Given the description of an element on the screen output the (x, y) to click on. 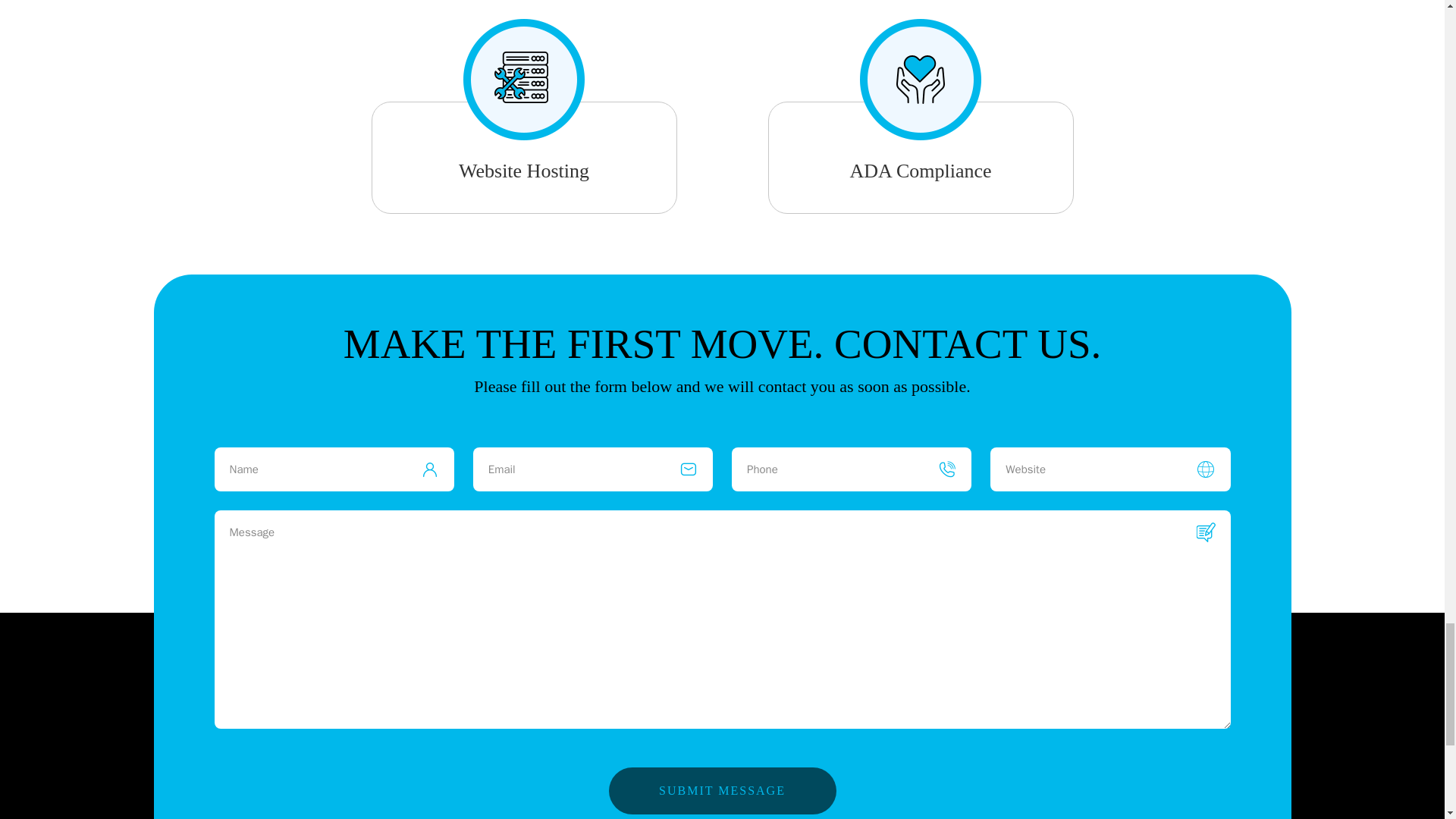
Submit Message (721, 790)
